Given the description of an element on the screen output the (x, y) to click on. 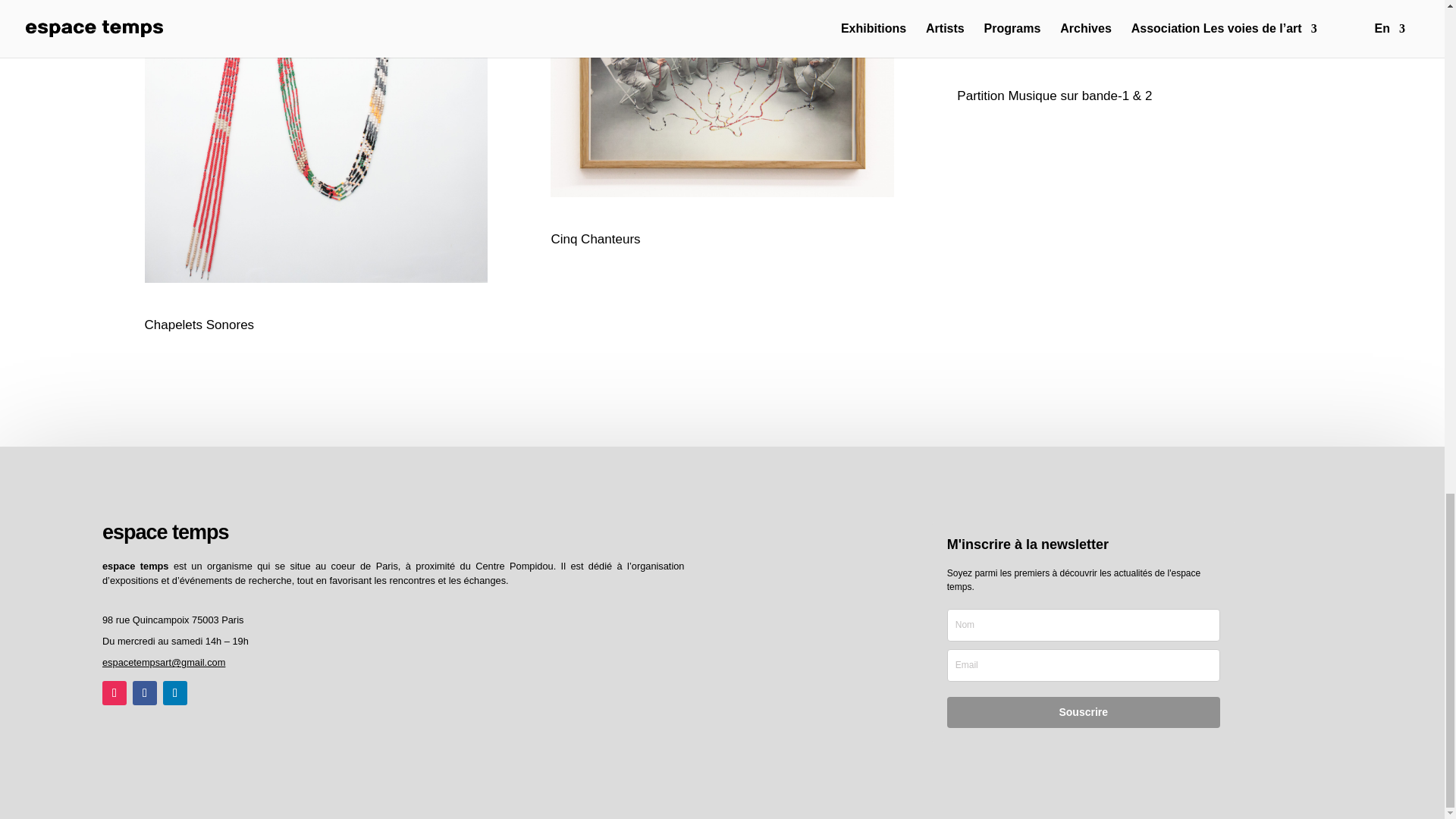
Follow on Instagram (113, 692)
Follow on LinkedIn (175, 692)
Chapelets Sonores (315, 141)
Cinq Chanteurs (721, 98)
Follow on Facebook (144, 692)
Souscrire (1083, 712)
